Given the description of an element on the screen output the (x, y) to click on. 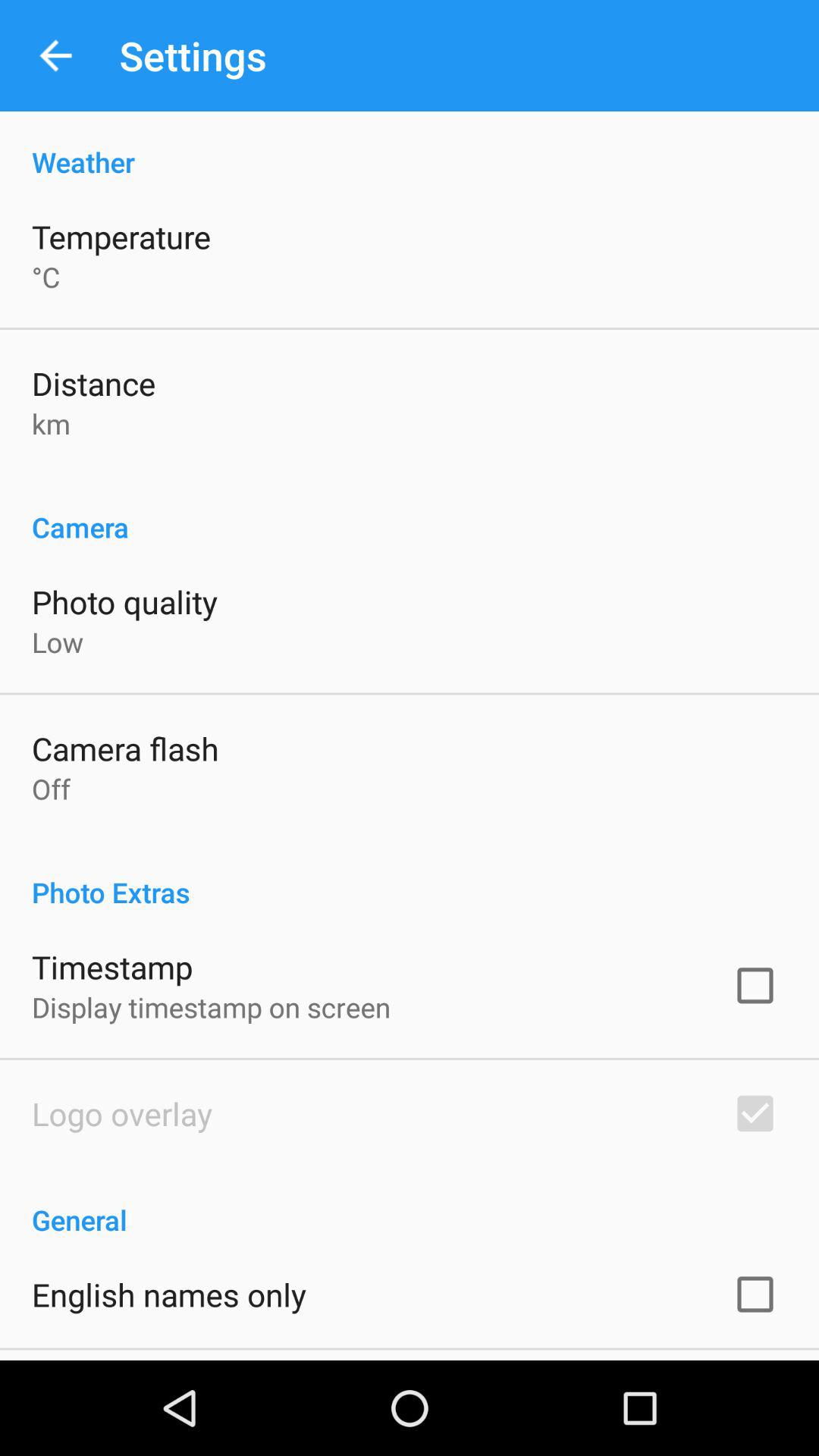
select app below the temperature app (45, 276)
